Given the description of an element on the screen output the (x, y) to click on. 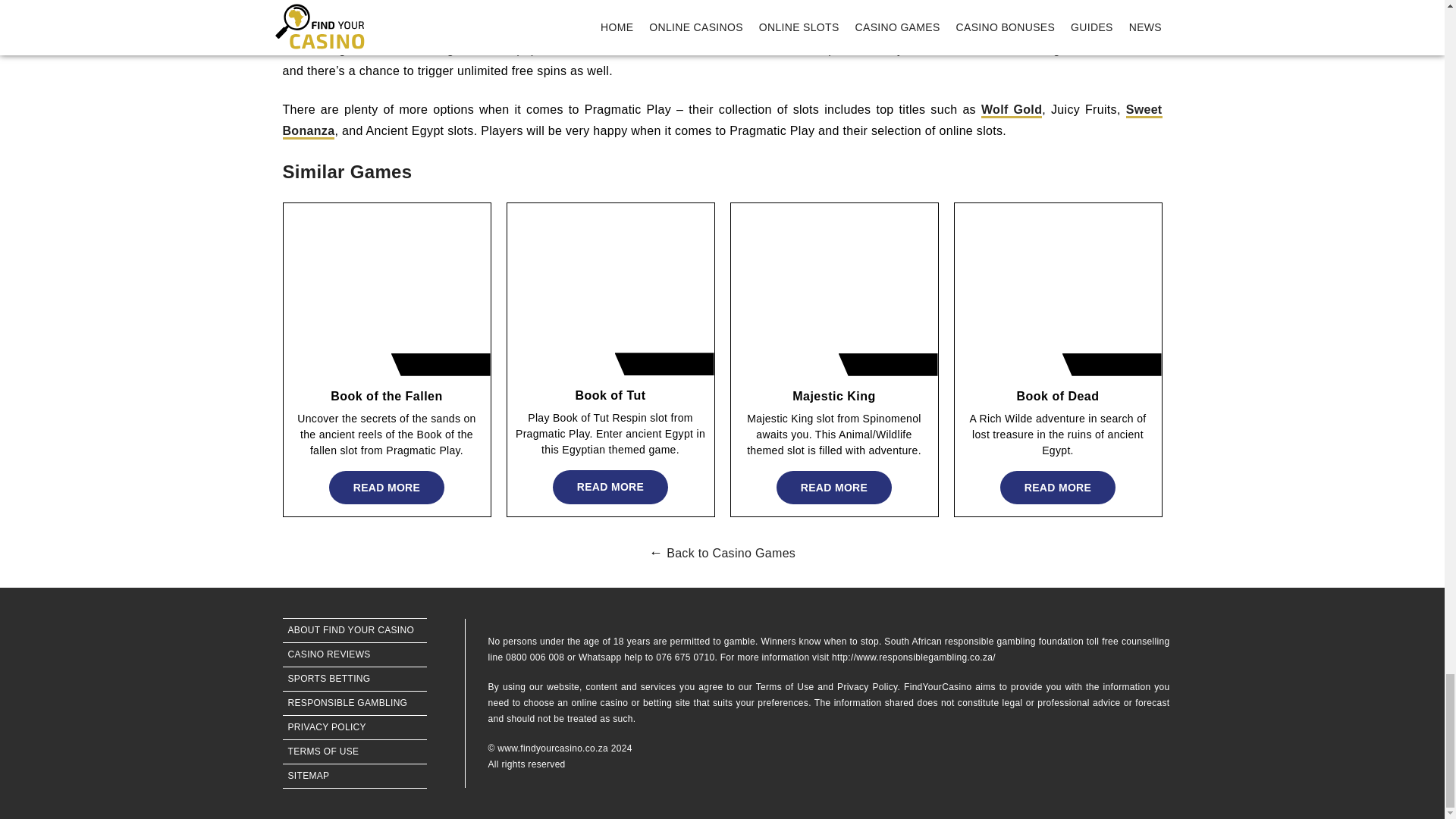
READ MORE (386, 487)
Book of Tut (610, 395)
READ MORE (833, 487)
Playngo Logo (1114, 363)
Wolf Gold (1011, 110)
Sweet Bonanza (721, 121)
Pragmaticplay Logo (443, 363)
Spinomenal Logo (890, 363)
Majestic King (834, 395)
Pragmaticplay Logo (666, 363)
